Given the description of an element on the screen output the (x, y) to click on. 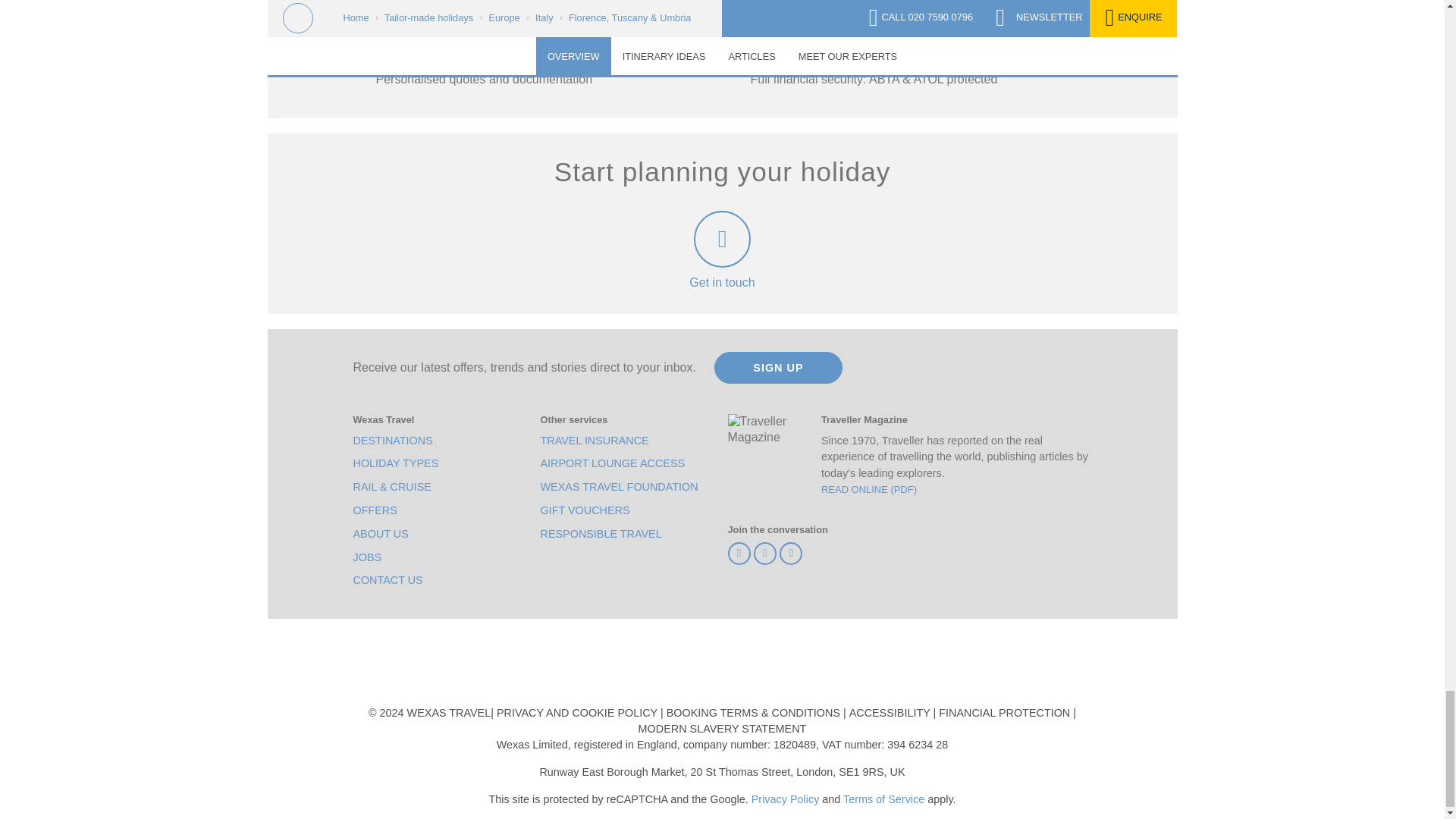
About us (381, 534)
Wexas Travel Foundation (618, 487)
Responsible Travel (600, 534)
Contact us (388, 580)
Airport Lounge Access (612, 463)
Jobs (367, 557)
Destinations (392, 440)
Gift Vouchers (584, 510)
Holiday Types (396, 463)
Travel Insurance (593, 440)
